Given the description of an element on the screen output the (x, y) to click on. 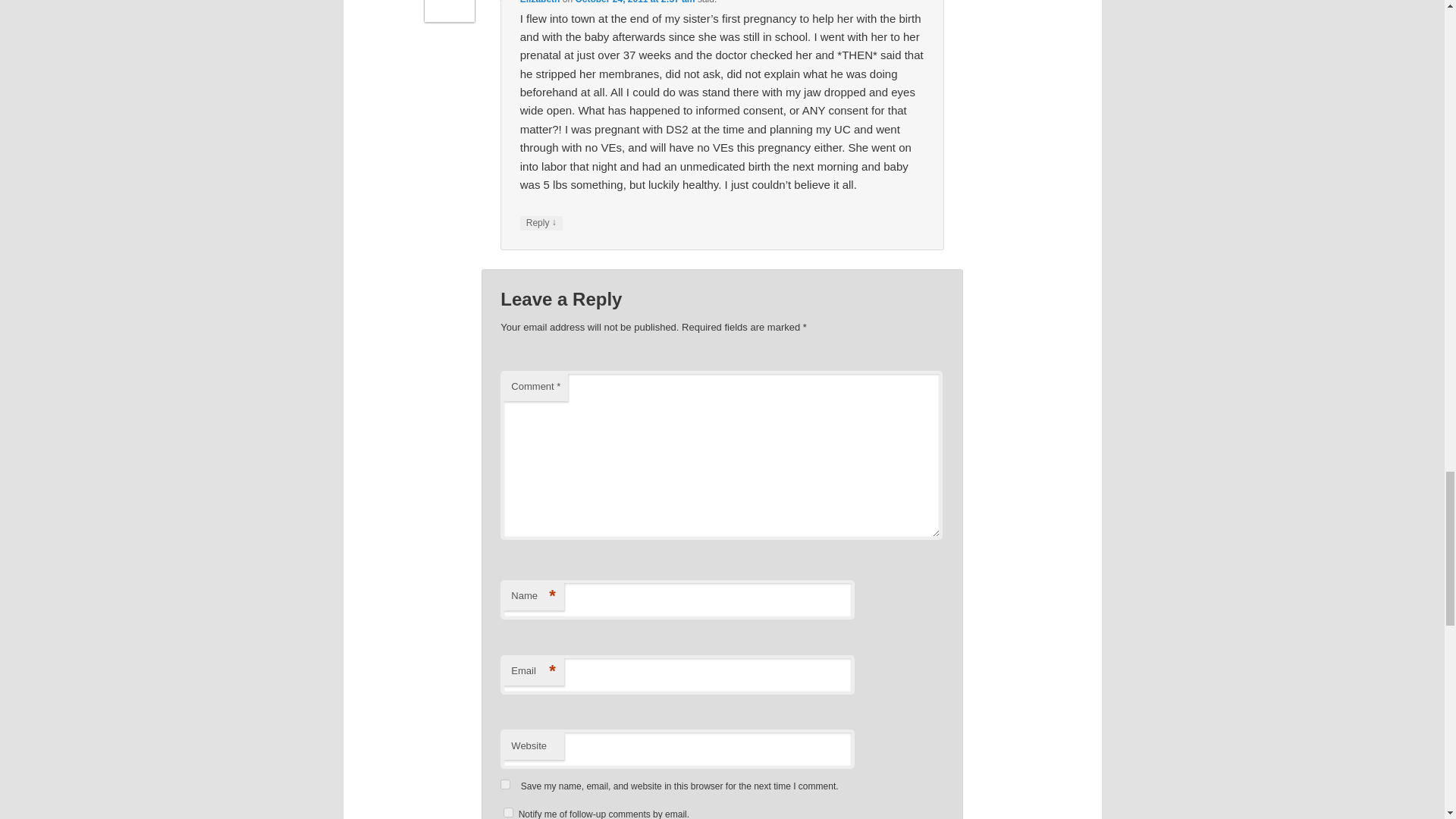
subscribe (508, 812)
yes (505, 784)
Elizabeth (539, 2)
October 24, 2011 at 2:37 am (634, 2)
